Given the description of an element on the screen output the (x, y) to click on. 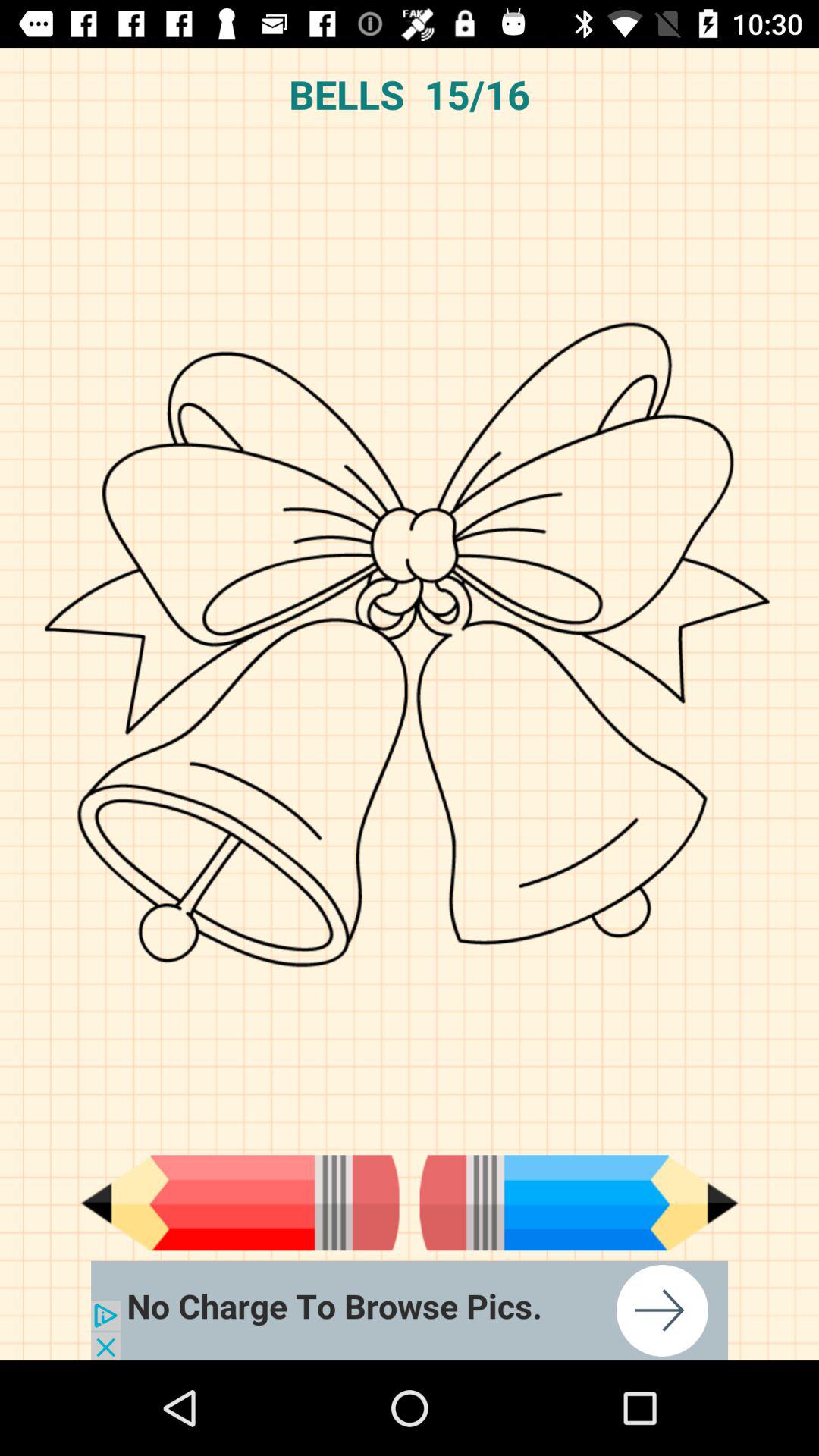
announcement (409, 1310)
